Given the description of an element on the screen output the (x, y) to click on. 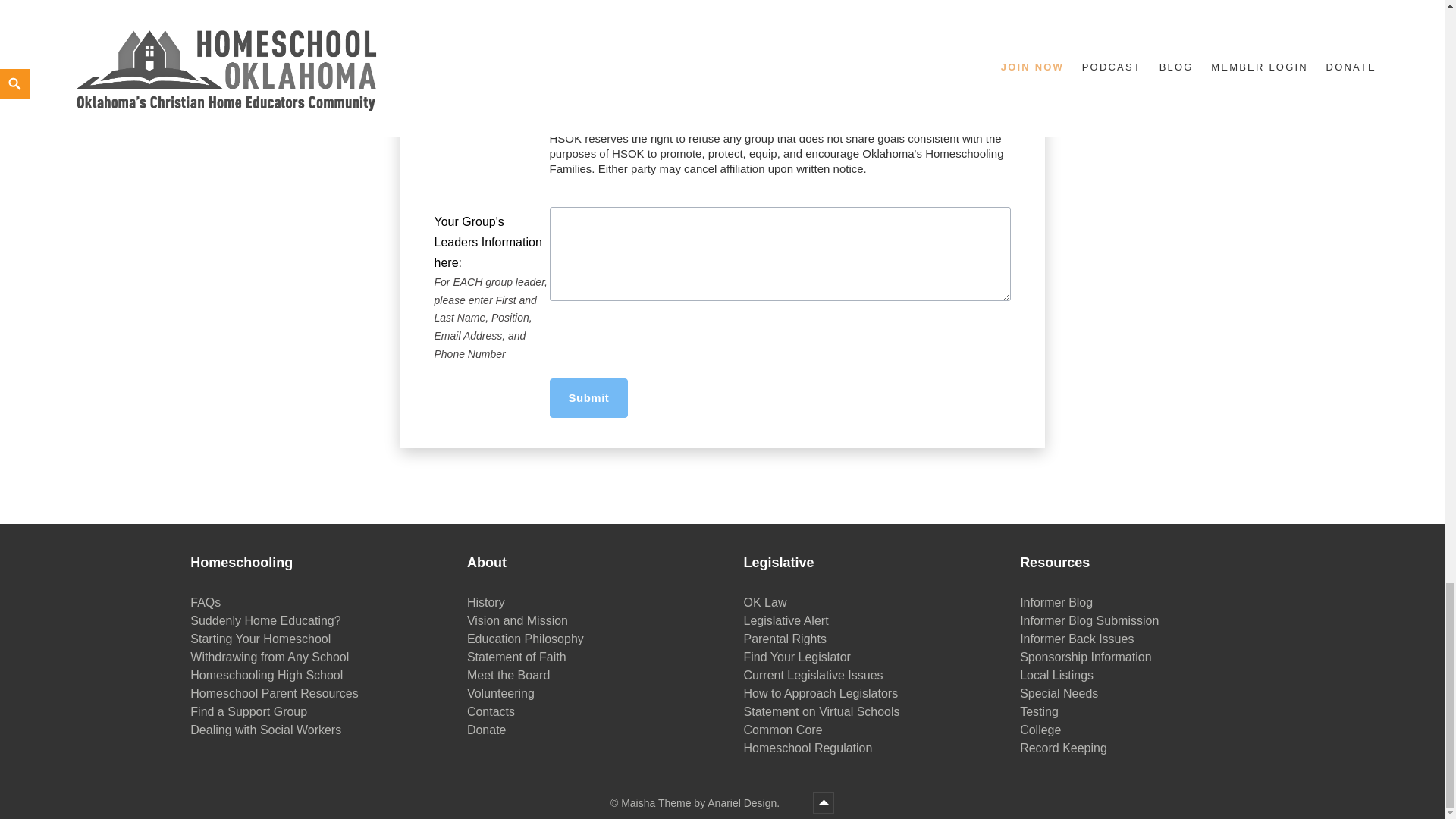
Informer Blog Submission (1089, 621)
Current Legislative Issues (813, 675)
Vision and Mission (517, 621)
Donate (486, 730)
History (486, 602)
Education Philosophy (525, 639)
Homeschooling High School (266, 675)
Find Your Legislator (797, 657)
Homeschool Oklahoma (702, 802)
Statement of Faith (516, 657)
